Given the description of an element on the screen output the (x, y) to click on. 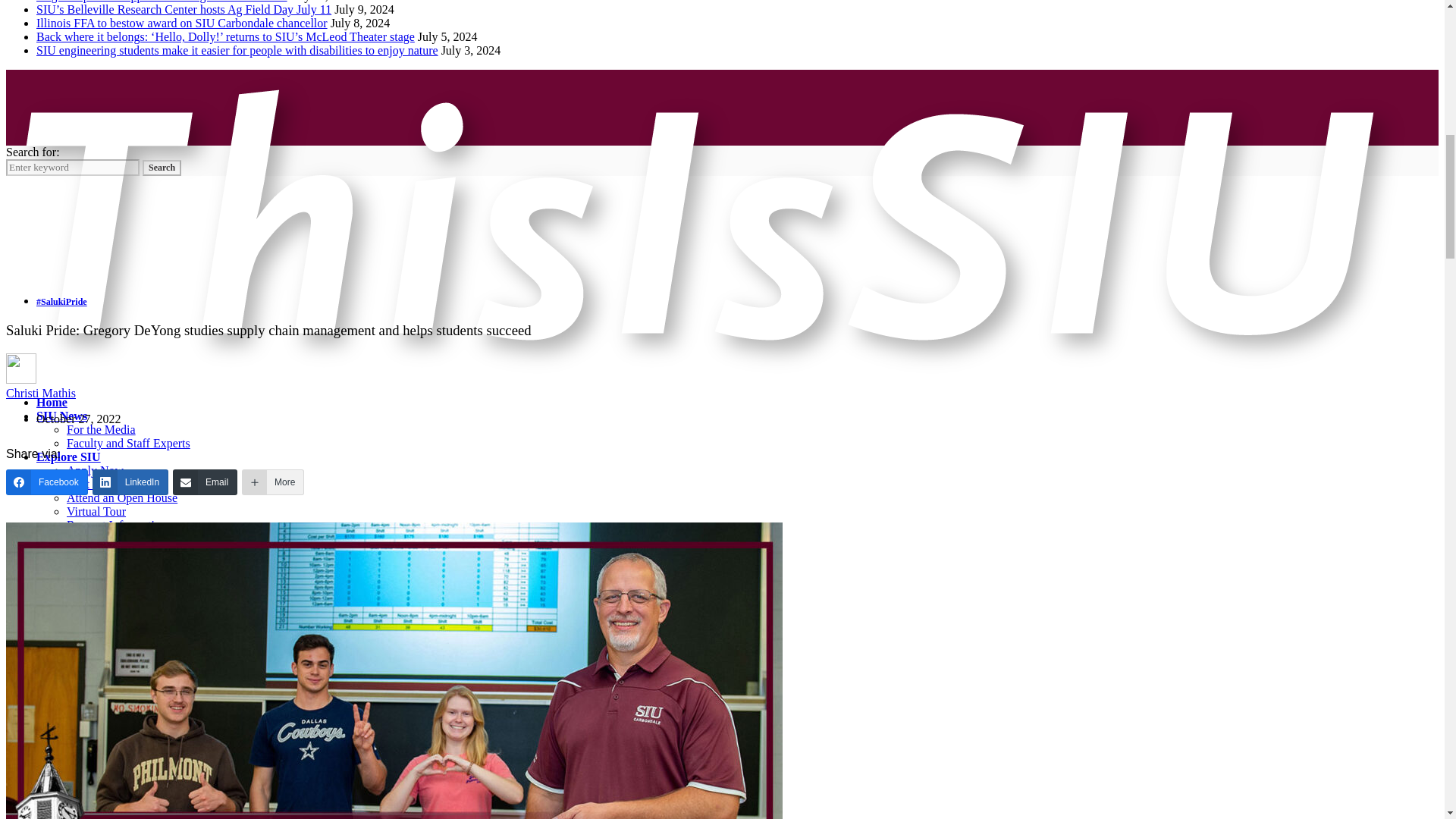
Home (51, 401)
Attend an Open House (121, 497)
Virtual Tour (95, 511)
For the Media (100, 429)
SIU News (61, 415)
Request Information (116, 524)
Illinois FFA to bestow award on SIU Carbondale chancellor (181, 22)
Explore SIU (68, 456)
Contact Us (65, 552)
Student Life (68, 538)
Faculty and Staff Experts (128, 442)
Apply Now (94, 470)
Visit SIU (89, 483)
